Given the description of an element on the screen output the (x, y) to click on. 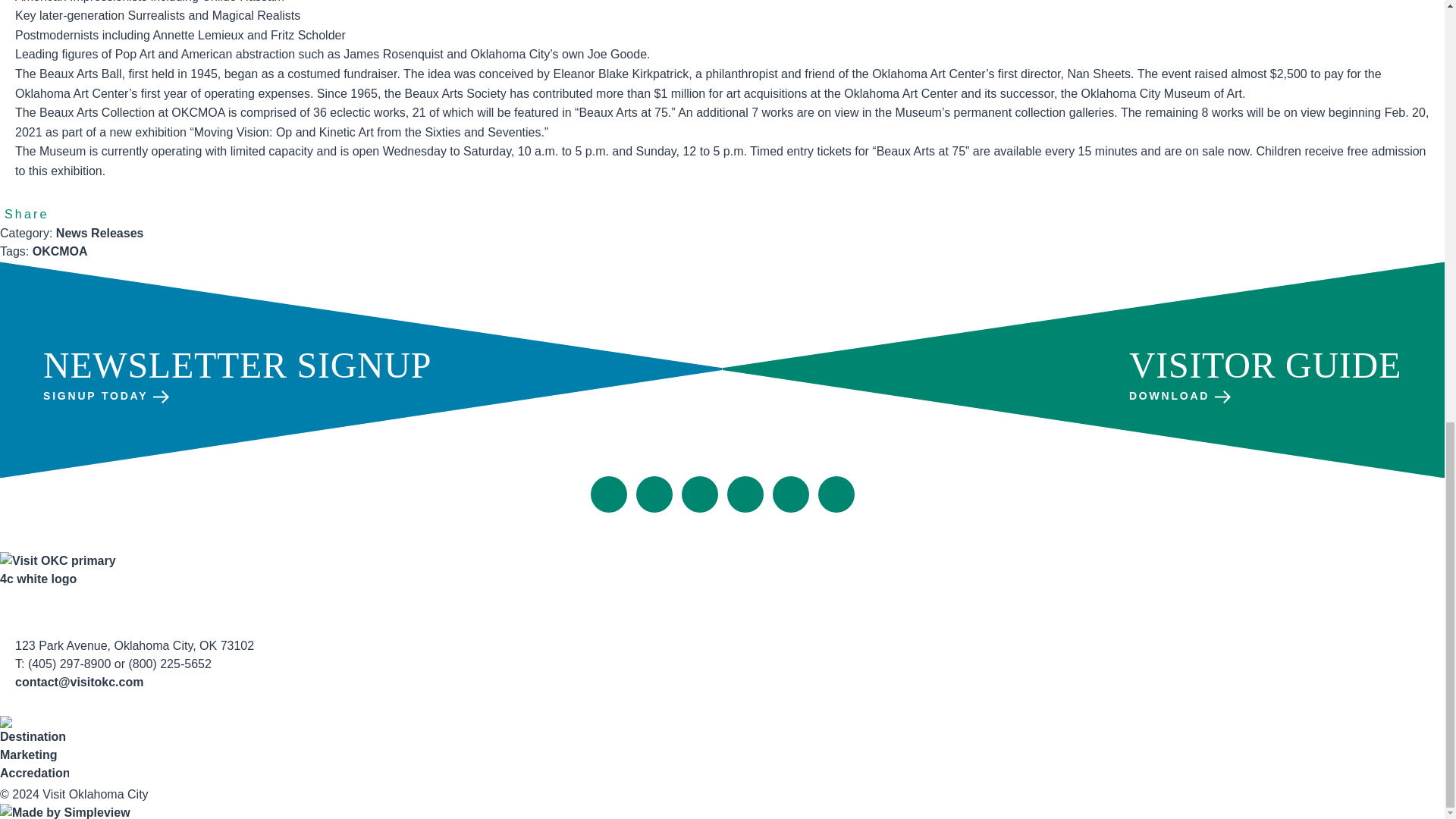
About Us (653, 521)
Contact (715, 521)
